Given the description of an element on the screen output the (x, y) to click on. 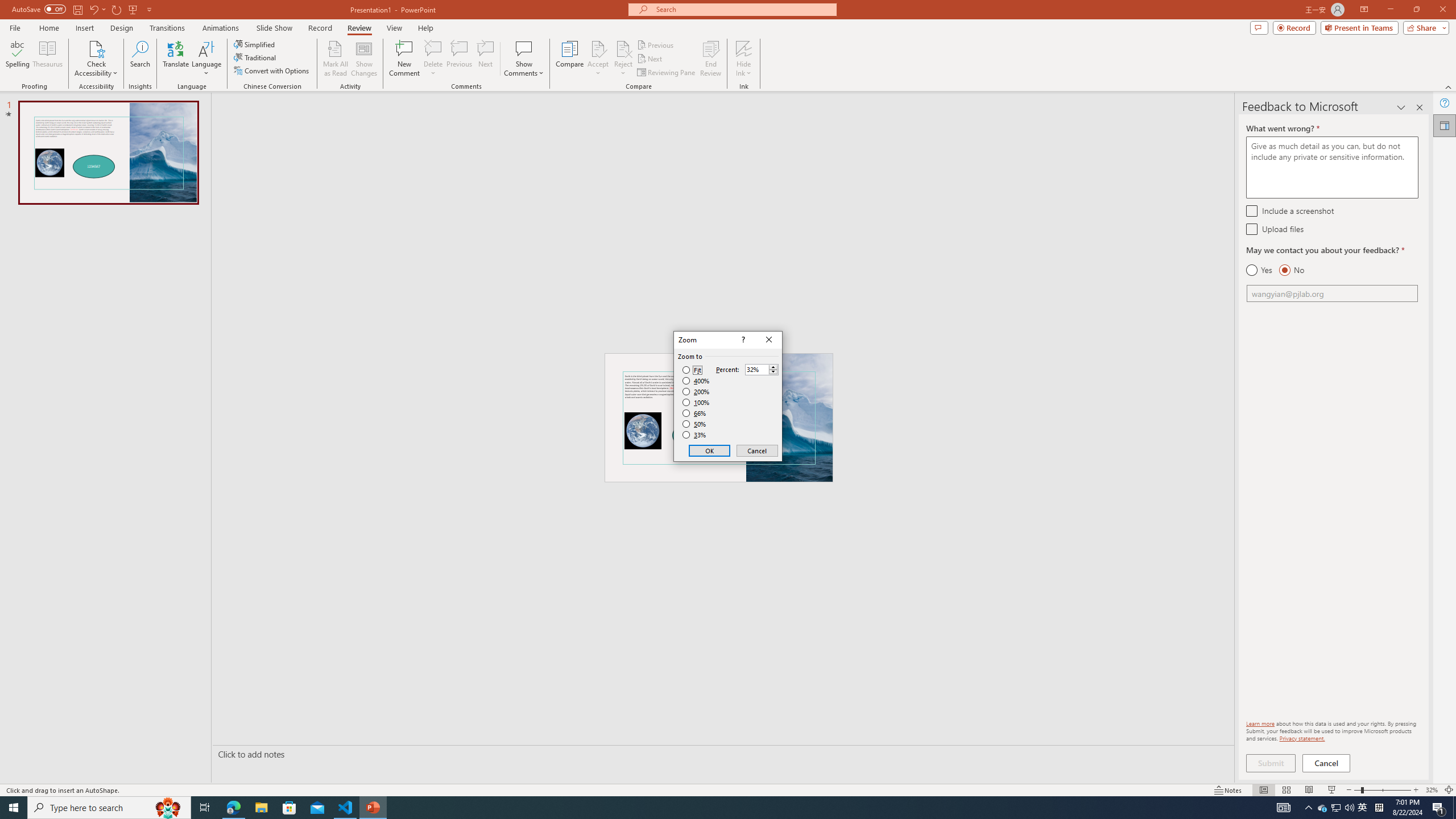
Reviewing Pane (666, 72)
33% (694, 434)
New Comment (403, 58)
200% (696, 391)
Language (206, 58)
Email (1332, 293)
Traditional (255, 56)
Running applications (700, 807)
